Given the description of an element on the screen output the (x, y) to click on. 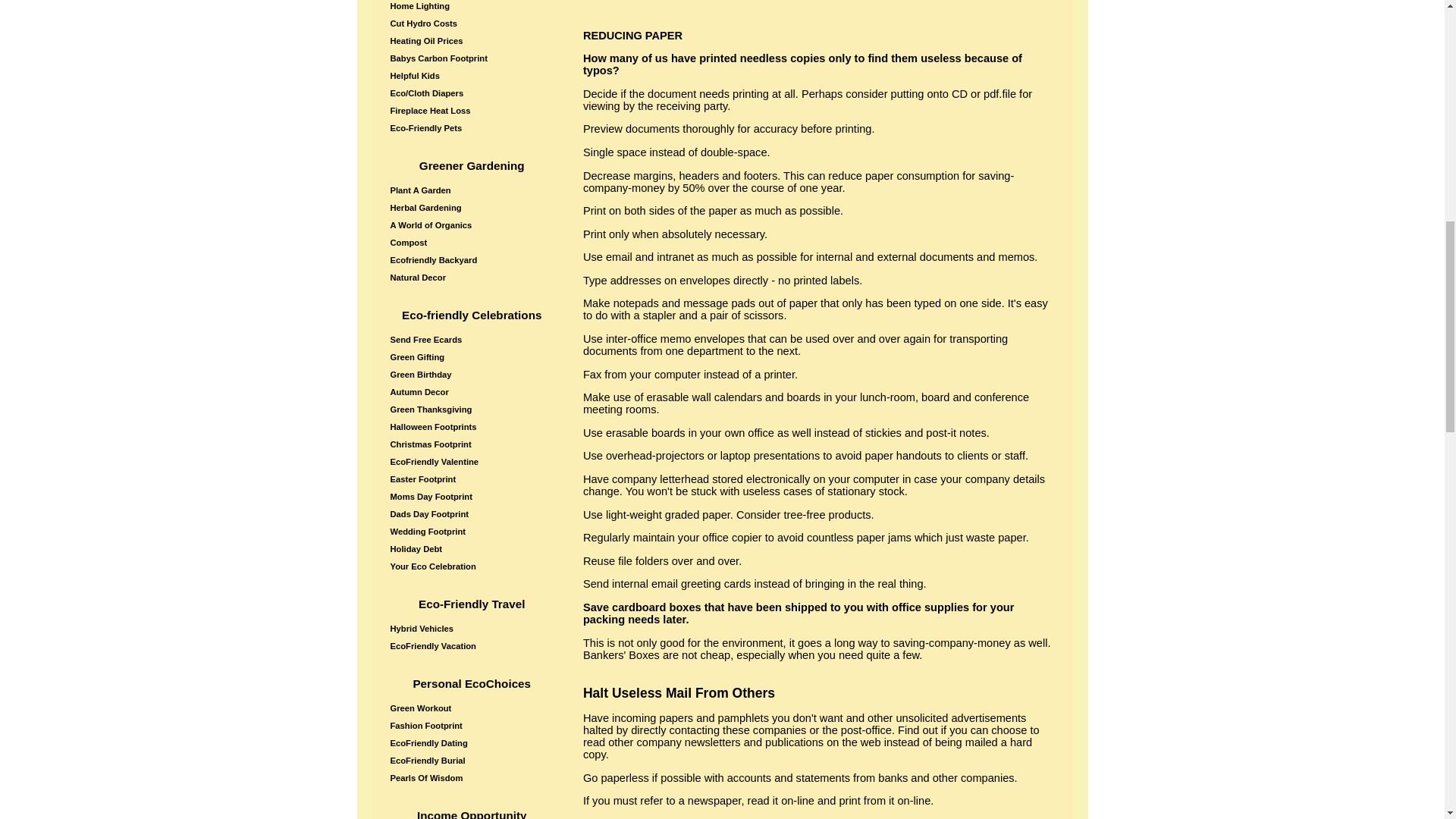
Heating Oil Prices (473, 40)
Eco-Friendly Pets (473, 127)
A World of Organics (473, 224)
Fireplace Heat Loss (473, 110)
Plant A Garden (473, 190)
Green Thanksgiving (473, 409)
Natural Decor (473, 277)
Ecofriendly Backyard (473, 259)
Herbal Gardening (473, 207)
Green Birthday (473, 374)
